Given the description of an element on the screen output the (x, y) to click on. 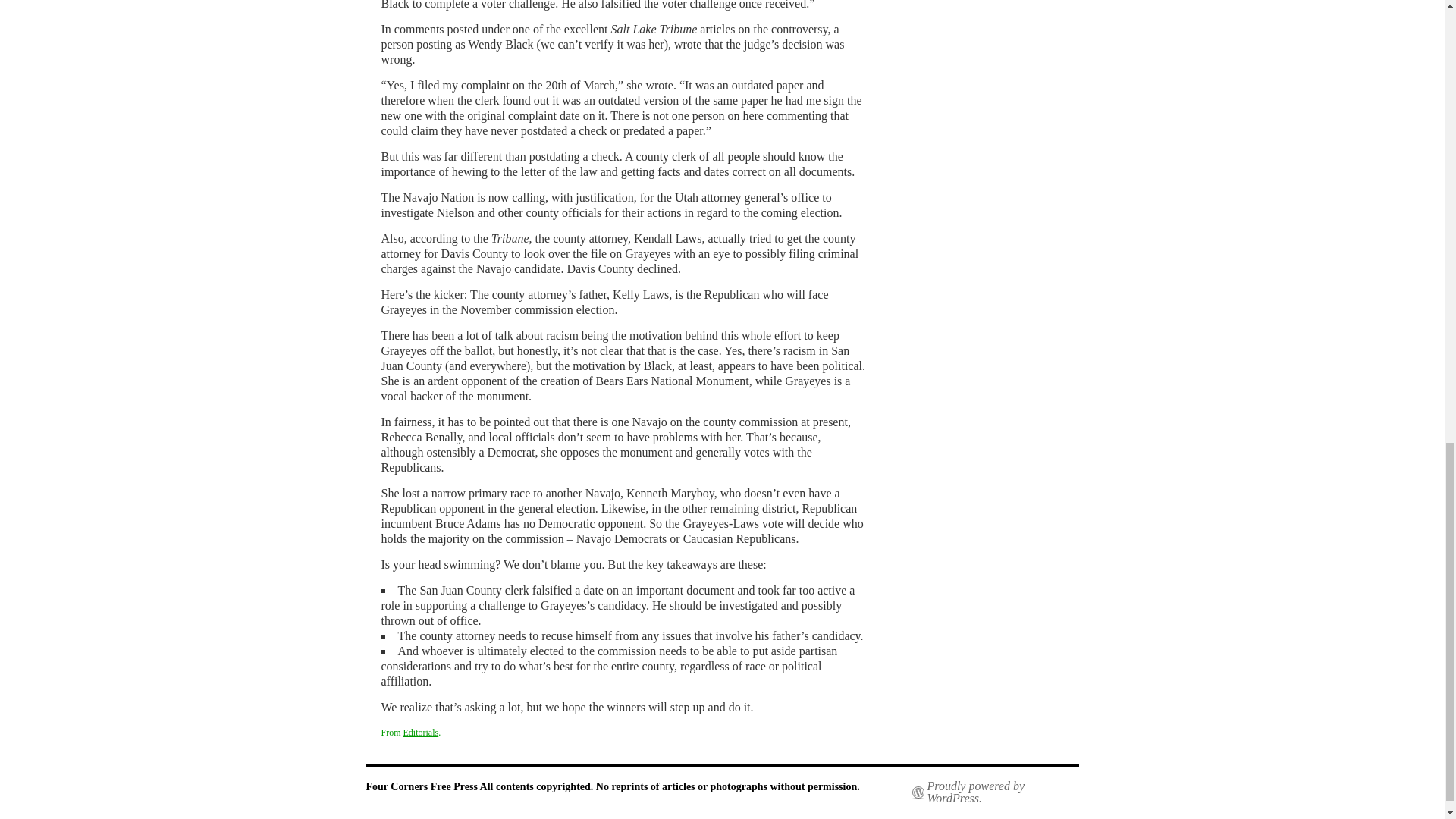
Proudly powered by WordPress. (994, 792)
Four Corners Free Press (422, 786)
Semantic Personal Publishing Platform (994, 792)
Four Corners Free Press (422, 786)
Editorials (421, 732)
